Given the description of an element on the screen output the (x, y) to click on. 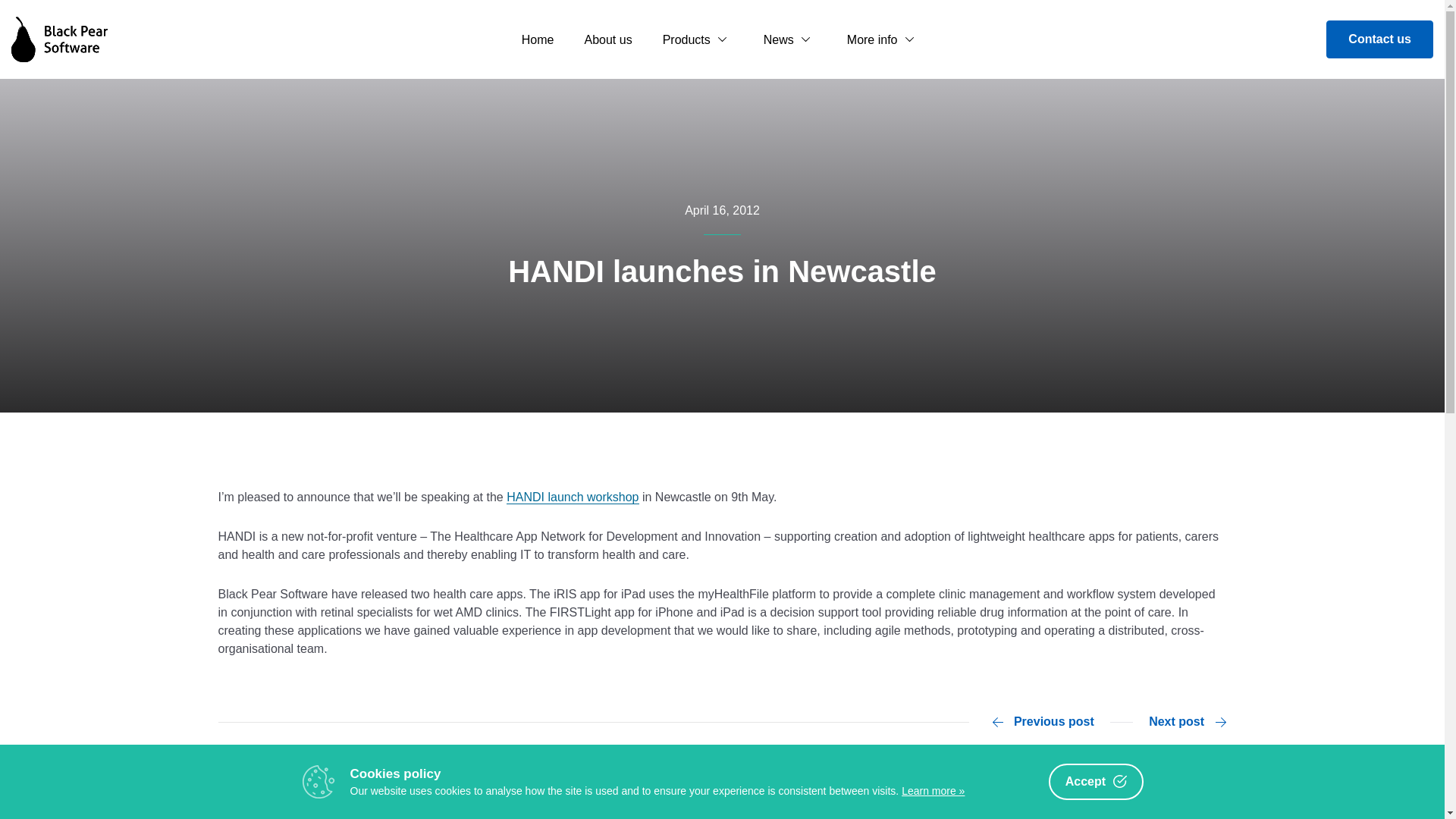
Next post (1186, 721)
Products (697, 43)
Products (697, 43)
More info (883, 43)
News (789, 43)
Contact us (1379, 39)
Home (537, 43)
HANDI launch workshop (572, 497)
More info (883, 43)
News (789, 43)
Home (537, 43)
About us (607, 43)
About us (607, 43)
Previous post (1042, 721)
